Given the description of an element on the screen output the (x, y) to click on. 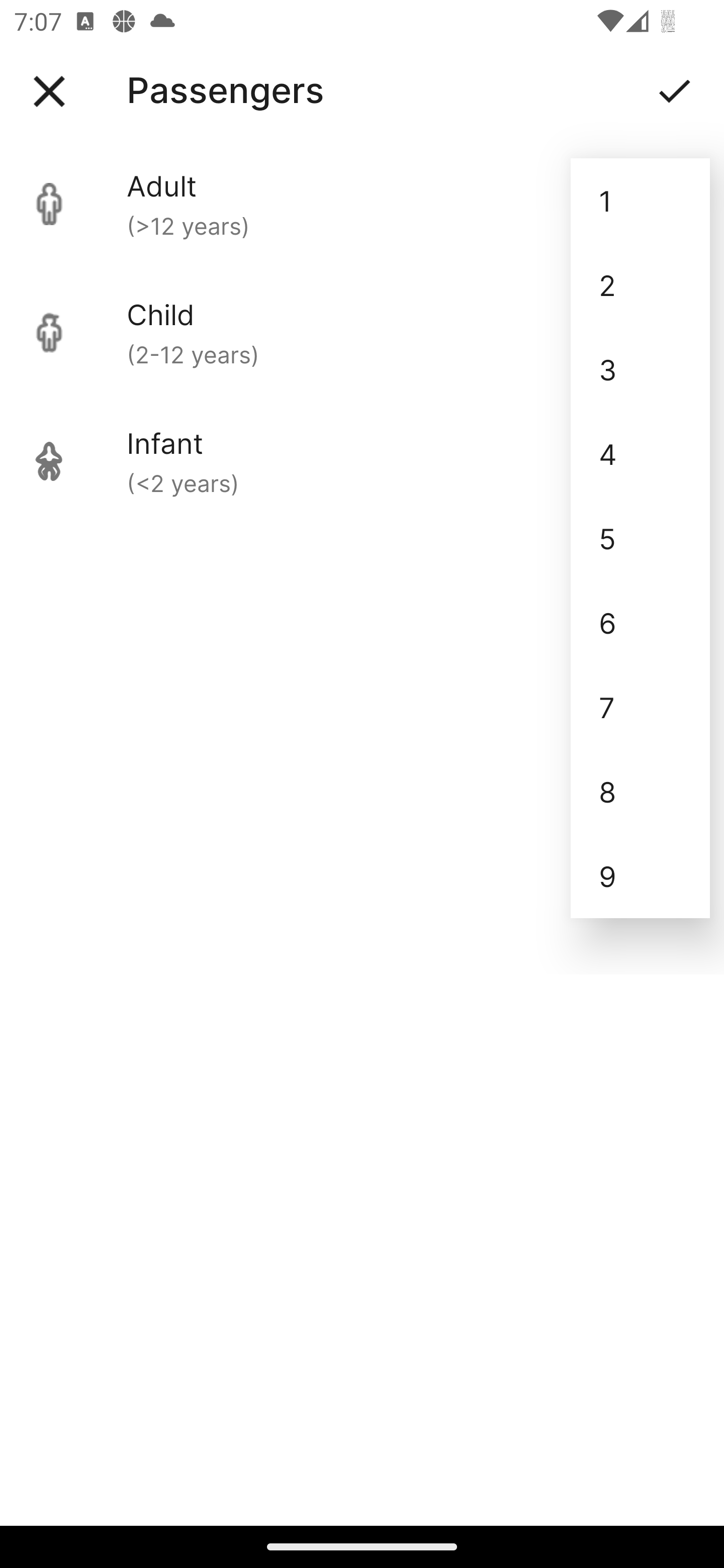
1 (640, 200)
2 (640, 285)
3 (640, 368)
4 (640, 452)
5 (640, 537)
6 (640, 622)
7 (640, 706)
8 (640, 791)
9 (640, 876)
